Given the description of an element on the screen output the (x, y) to click on. 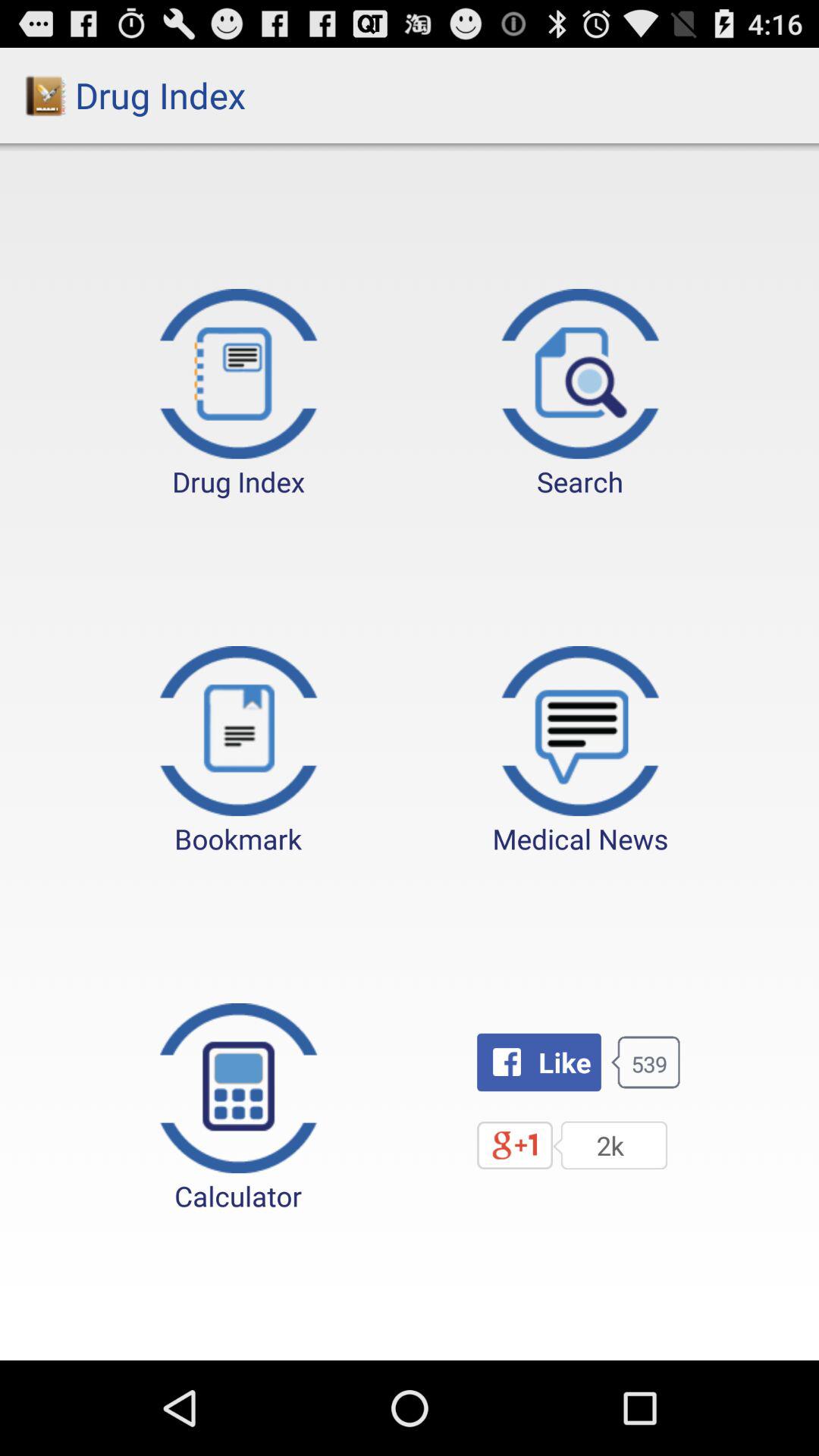
choose the icon next to drug index (580, 394)
